Given the description of an element on the screen output the (x, y) to click on. 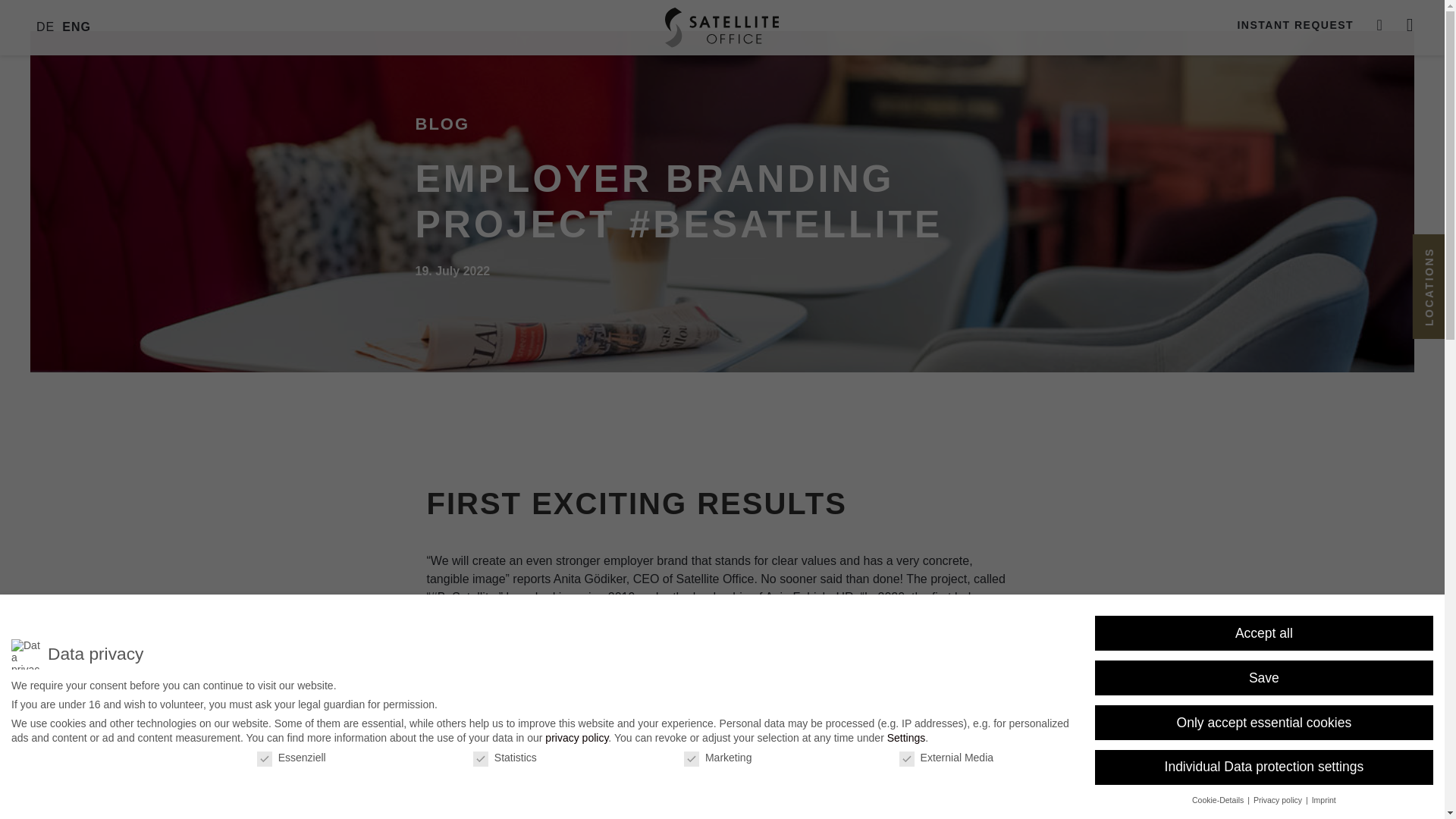
INSTANT REQUEST (1295, 24)
ENG (76, 26)
DE (45, 26)
To the home page (721, 26)
